Given the description of an element on the screen output the (x, y) to click on. 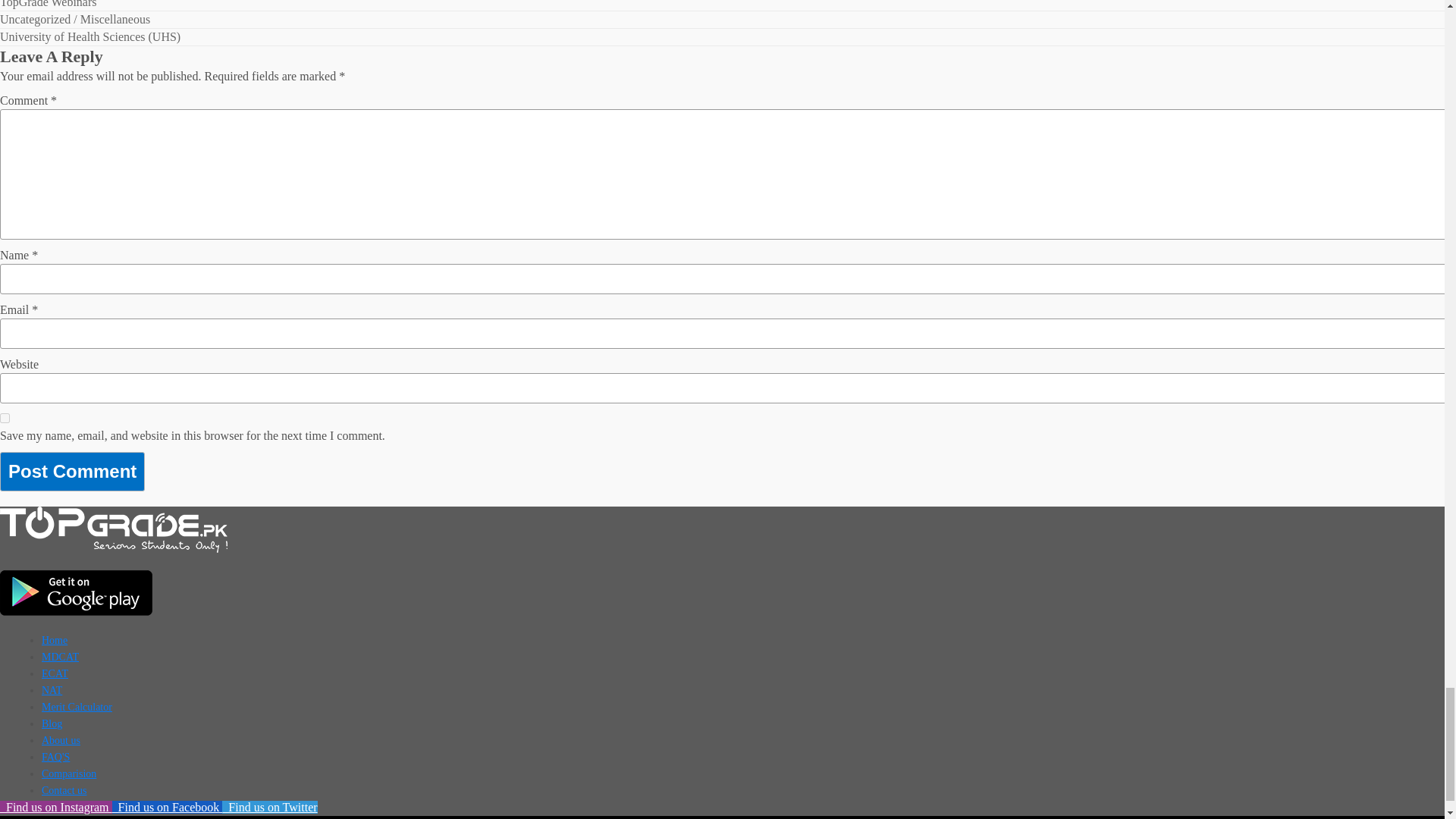
Post Comment (72, 471)
yes (5, 418)
